Given the description of an element on the screen output the (x, y) to click on. 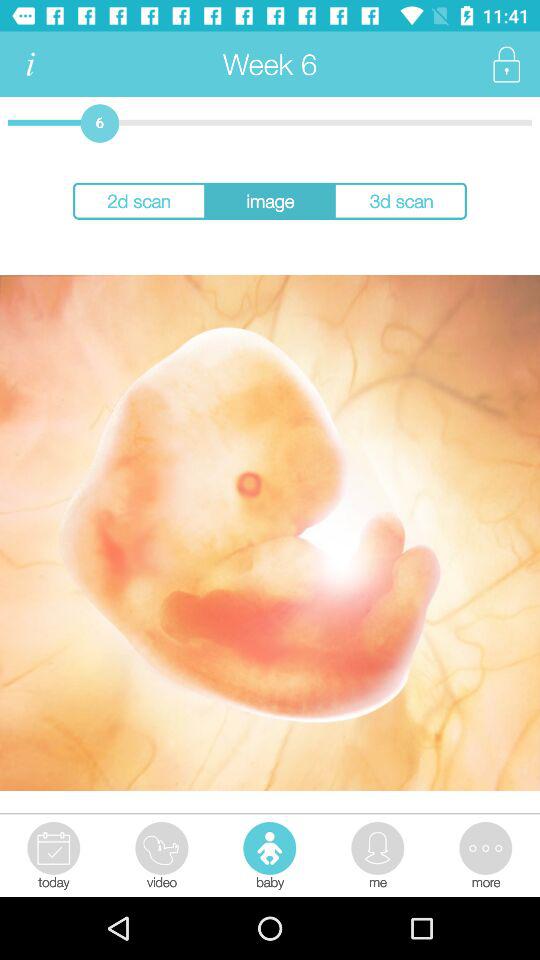
select the symbol and text which is to the immediate right of me (484, 854)
